Given the description of an element on the screen output the (x, y) to click on. 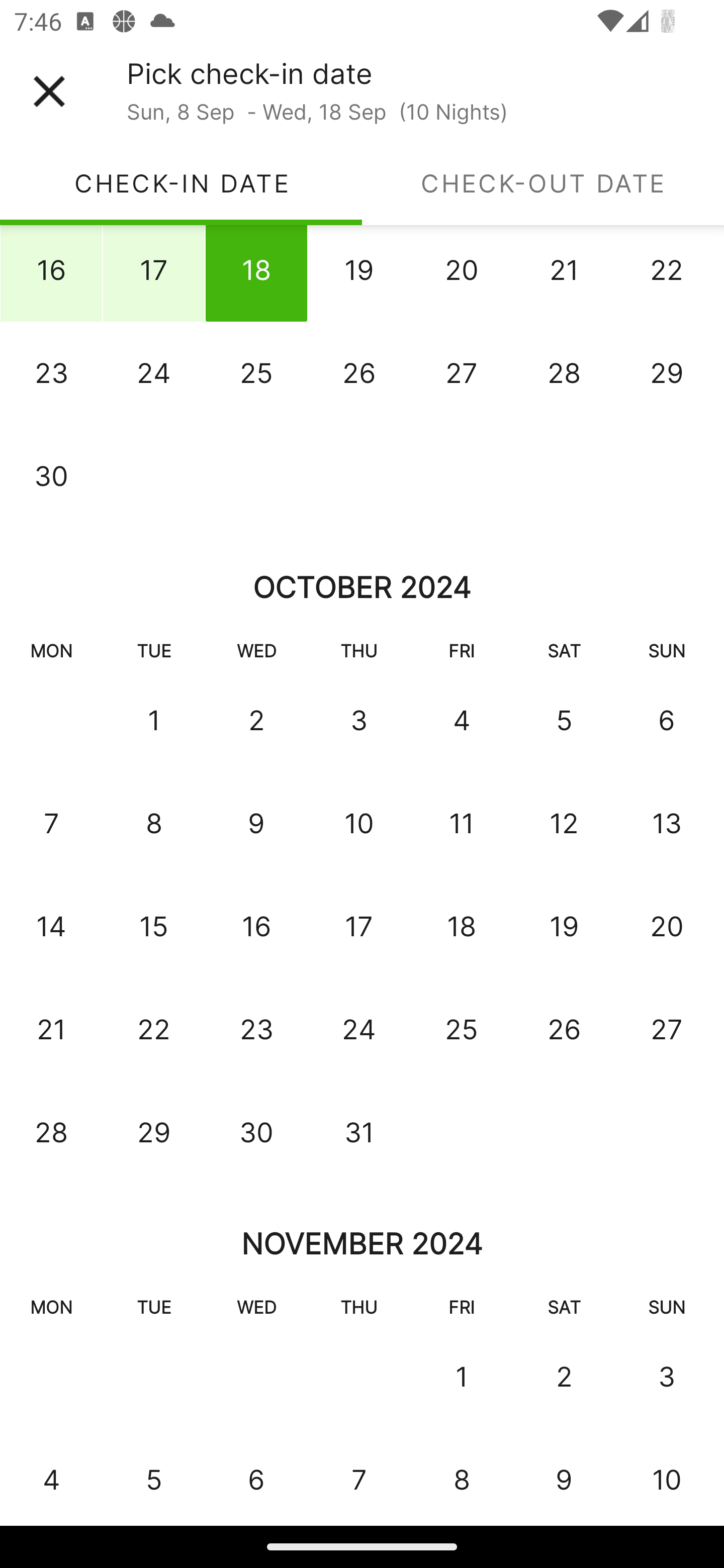
Check-out Date CHECK-OUT DATE (543, 183)
